Given the description of an element on the screen output the (x, y) to click on. 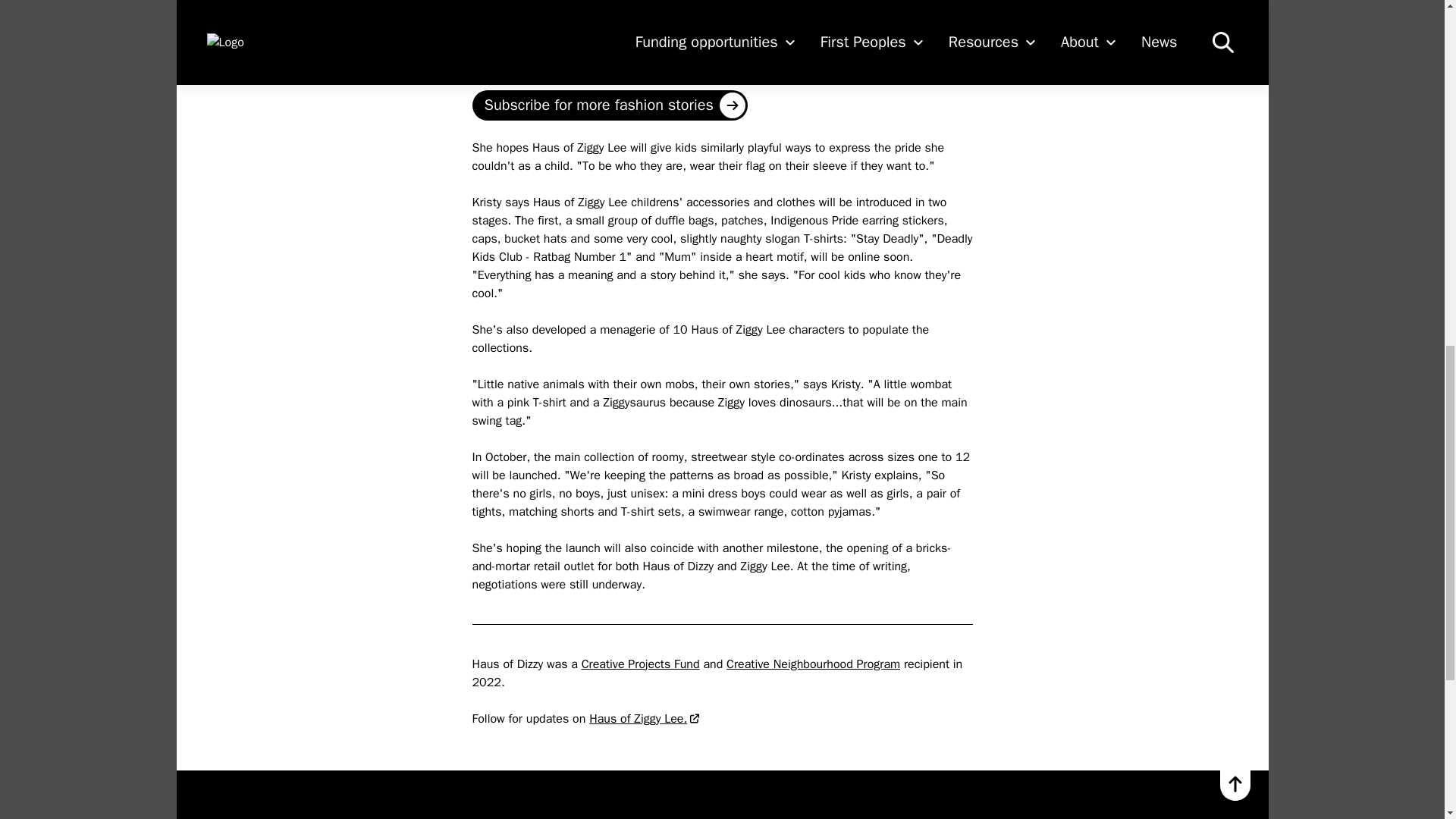
Creative Projects Fund (640, 663)
Haus of Ziggy Lee. (644, 718)
Subscribe for more fashion stories (608, 104)
Go back to top of page (1234, 785)
Creative Neighbourhood Program (812, 663)
